Given the description of an element on the screen output the (x, y) to click on. 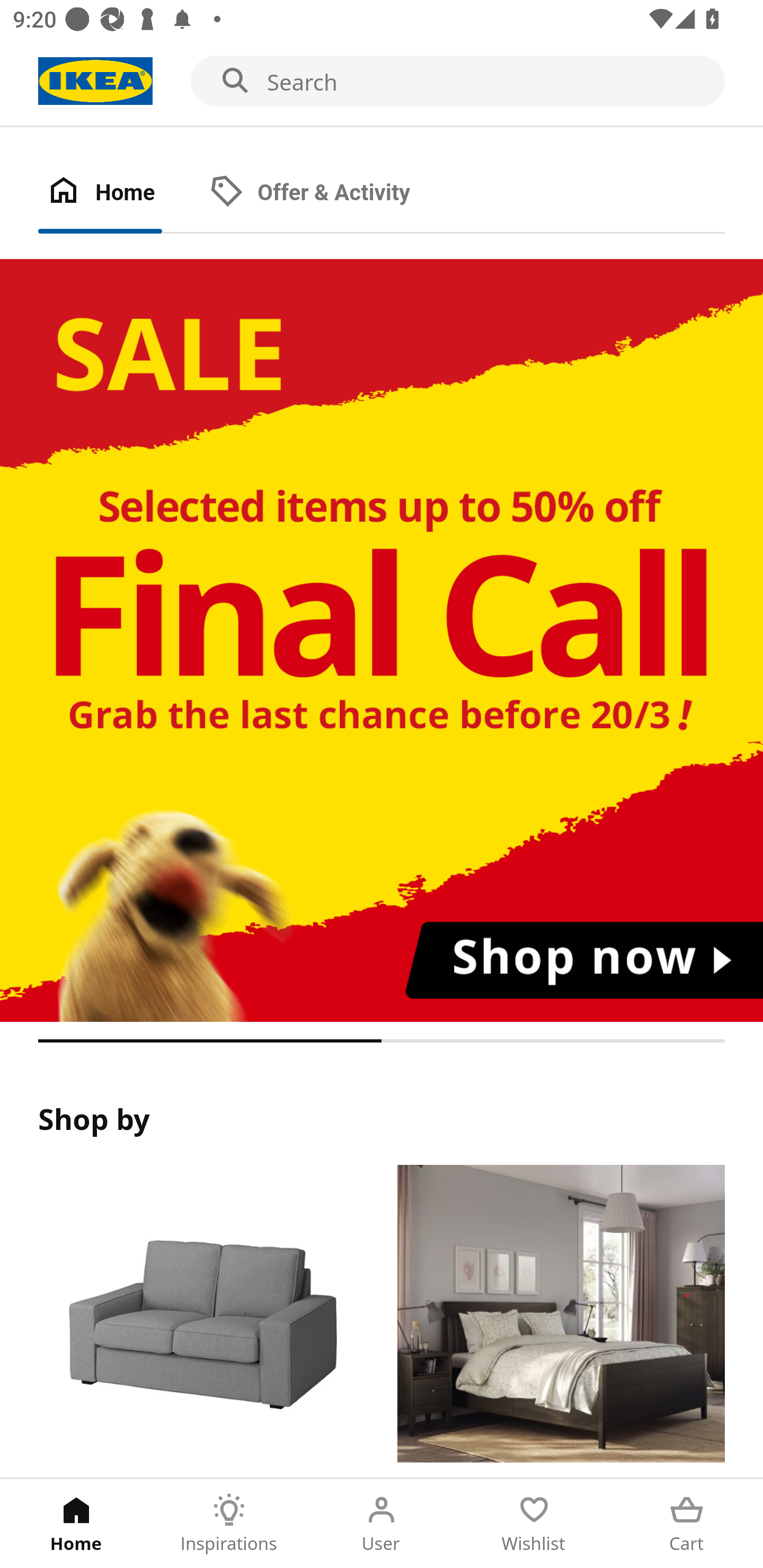
Search (381, 81)
Home
Tab 1 of 2 (118, 192)
Offer & Activity
Tab 2 of 2 (327, 192)
Products (201, 1321)
Rooms (560, 1321)
Home
Tab 1 of 5 (76, 1522)
Inspirations
Tab 2 of 5 (228, 1522)
User
Tab 3 of 5 (381, 1522)
Wishlist
Tab 4 of 5 (533, 1522)
Cart
Tab 5 of 5 (686, 1522)
